Given the description of an element on the screen output the (x, y) to click on. 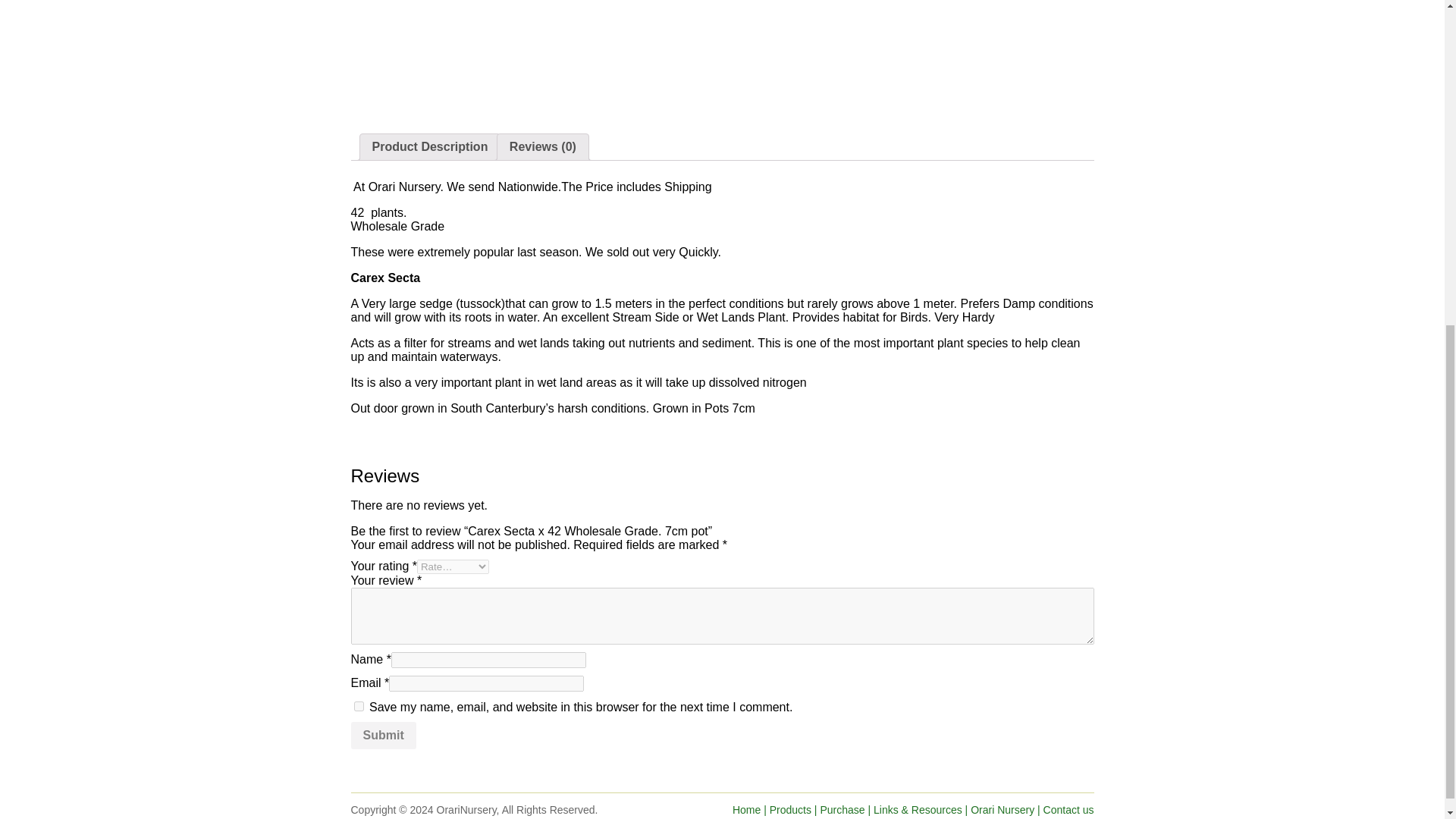
Home (746, 809)
Product Description (429, 146)
Products (790, 809)
Contact us (1068, 809)
Purchase (841, 809)
Submit (382, 735)
Orari Nursery (1002, 809)
yes (357, 706)
Submit (382, 735)
